Given the description of an element on the screen output the (x, y) to click on. 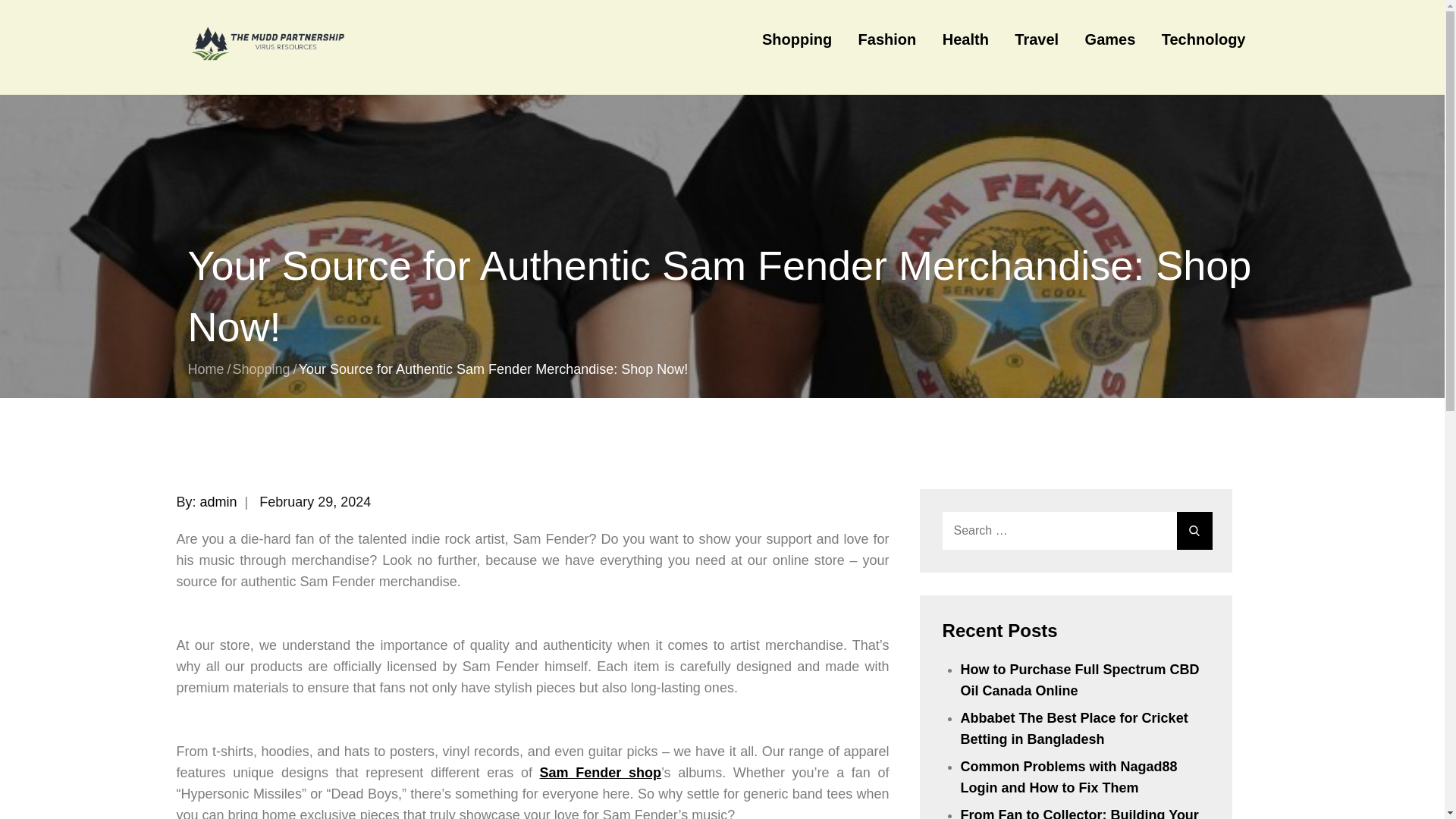
Travel (1036, 39)
Health (965, 39)
February 29, 2024 (315, 501)
Technology (1203, 39)
Home (205, 368)
How to Purchase Full Spectrum CBD Oil Canada Online (1079, 679)
The Mudd Partnership (339, 108)
Common Problems with Nagad88 Login and How to Fix Them (1068, 777)
Games (1110, 39)
